Given the description of an element on the screen output the (x, y) to click on. 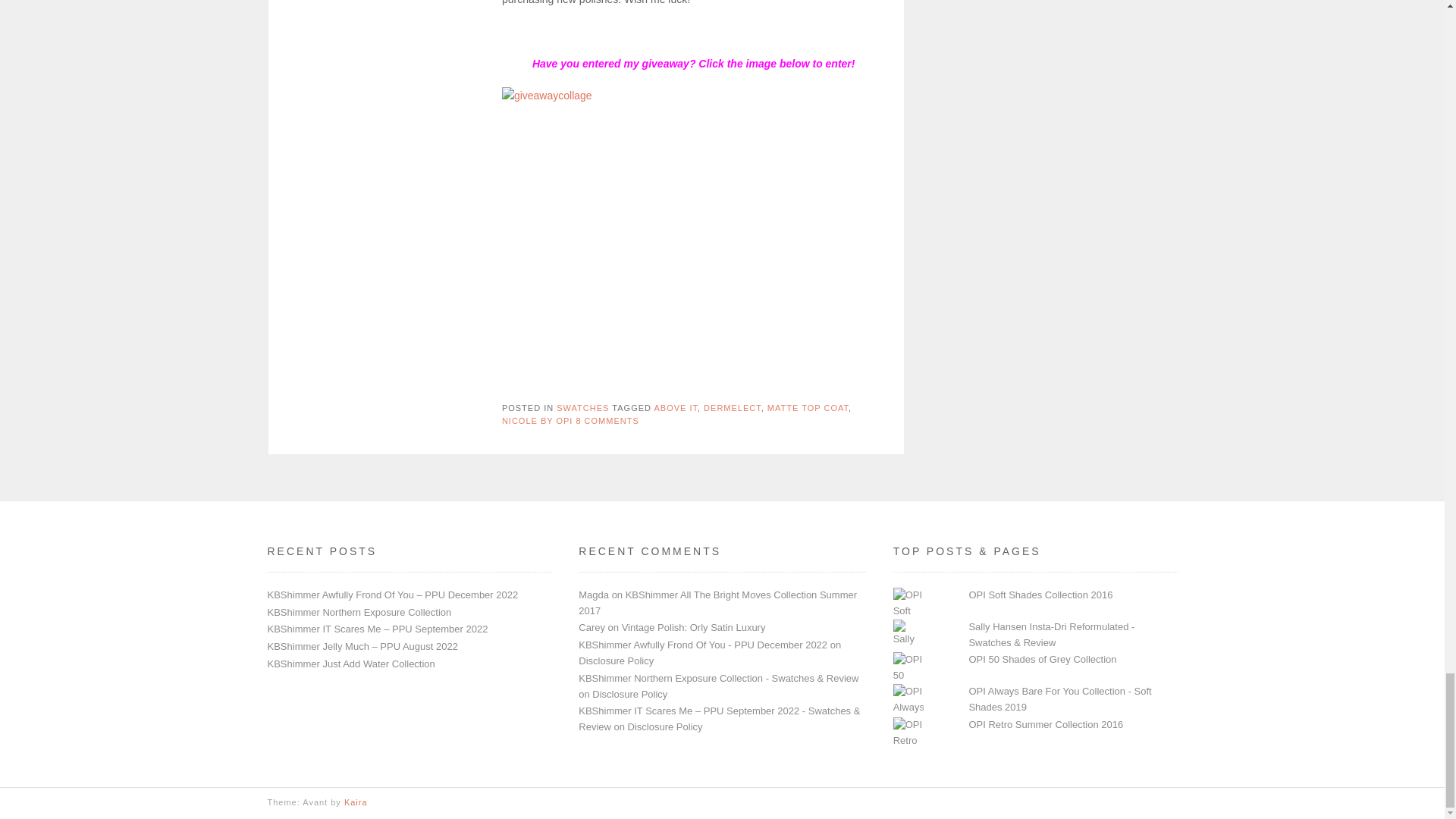
SWATCHES (582, 407)
ABOVE IT (675, 407)
DERMELECT (732, 407)
OPI Retro Summer Collection 2016 (1045, 724)
OPI Soft Shades Collection 2016 (1040, 594)
OPI Always Bare For You Collection - Soft Shades 2019 (1059, 698)
8 COMMENTS (607, 420)
OPI 50 Shades of Grey Collection (1042, 659)
NICOLE BY OPI (537, 420)
MATTE TOP COAT (807, 407)
